Given the description of an element on the screen output the (x, y) to click on. 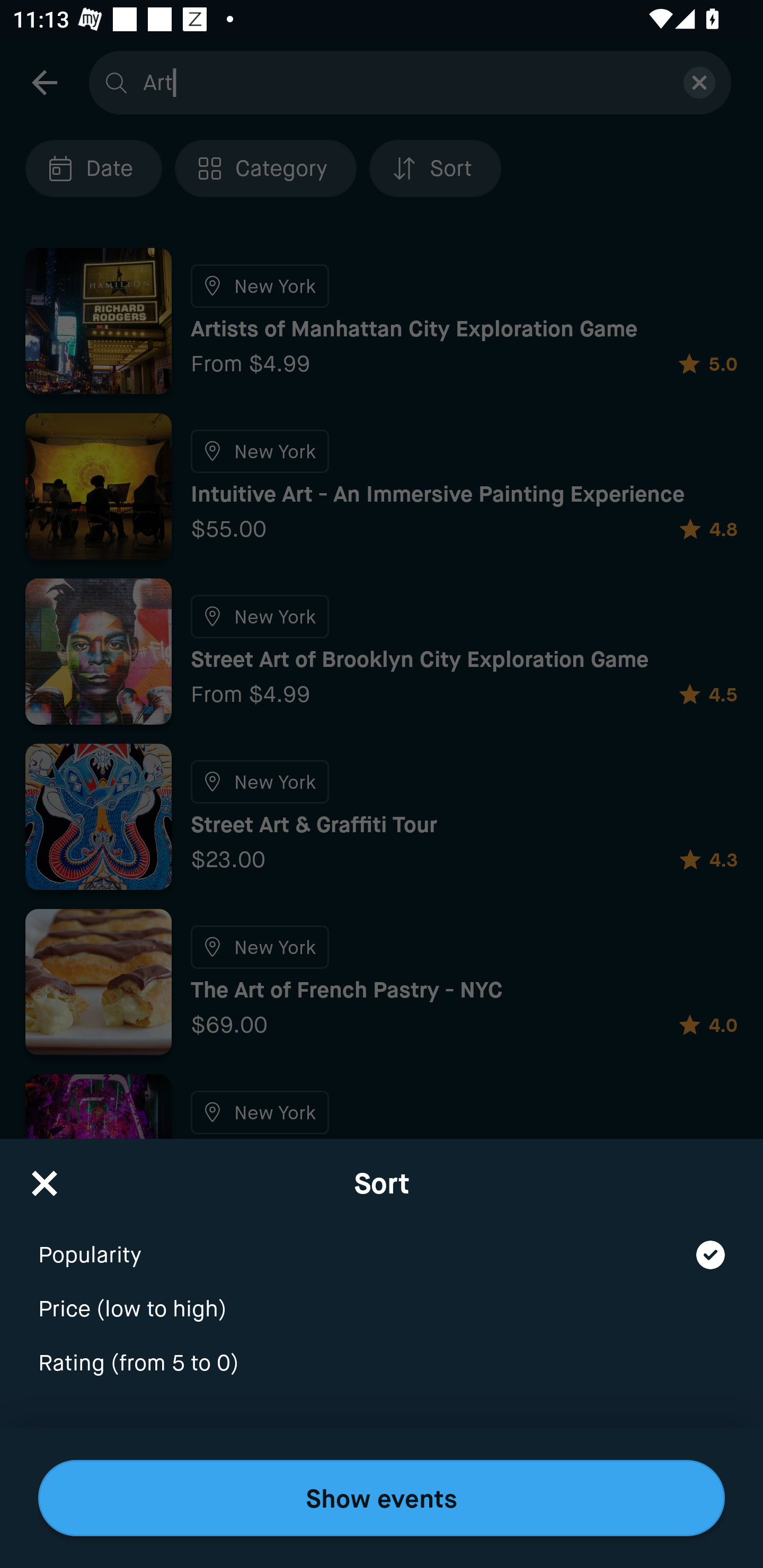
CloseButton (44, 1177)
Popularity Selected Icon (381, 1243)
Price (low to high) (381, 1297)
Rating (from 5 to 0) (381, 1362)
Show events (381, 1497)
